Given the description of an element on the screen output the (x, y) to click on. 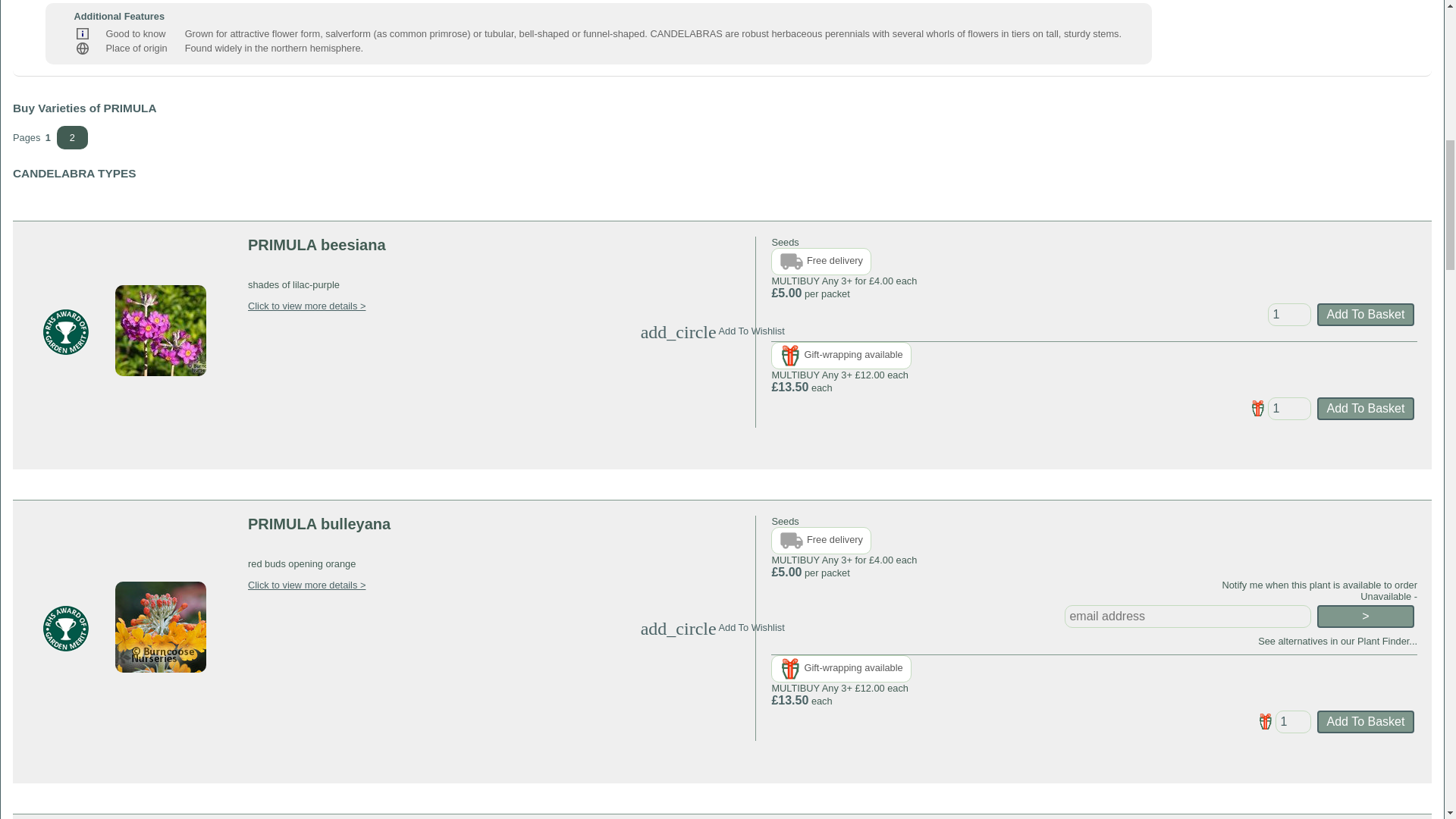
1 (1289, 408)
Add To Basket (1365, 408)
Add To Basket (1365, 314)
1 (1289, 314)
Add To Basket (1365, 721)
1 (1293, 721)
